Given the description of an element on the screen output the (x, y) to click on. 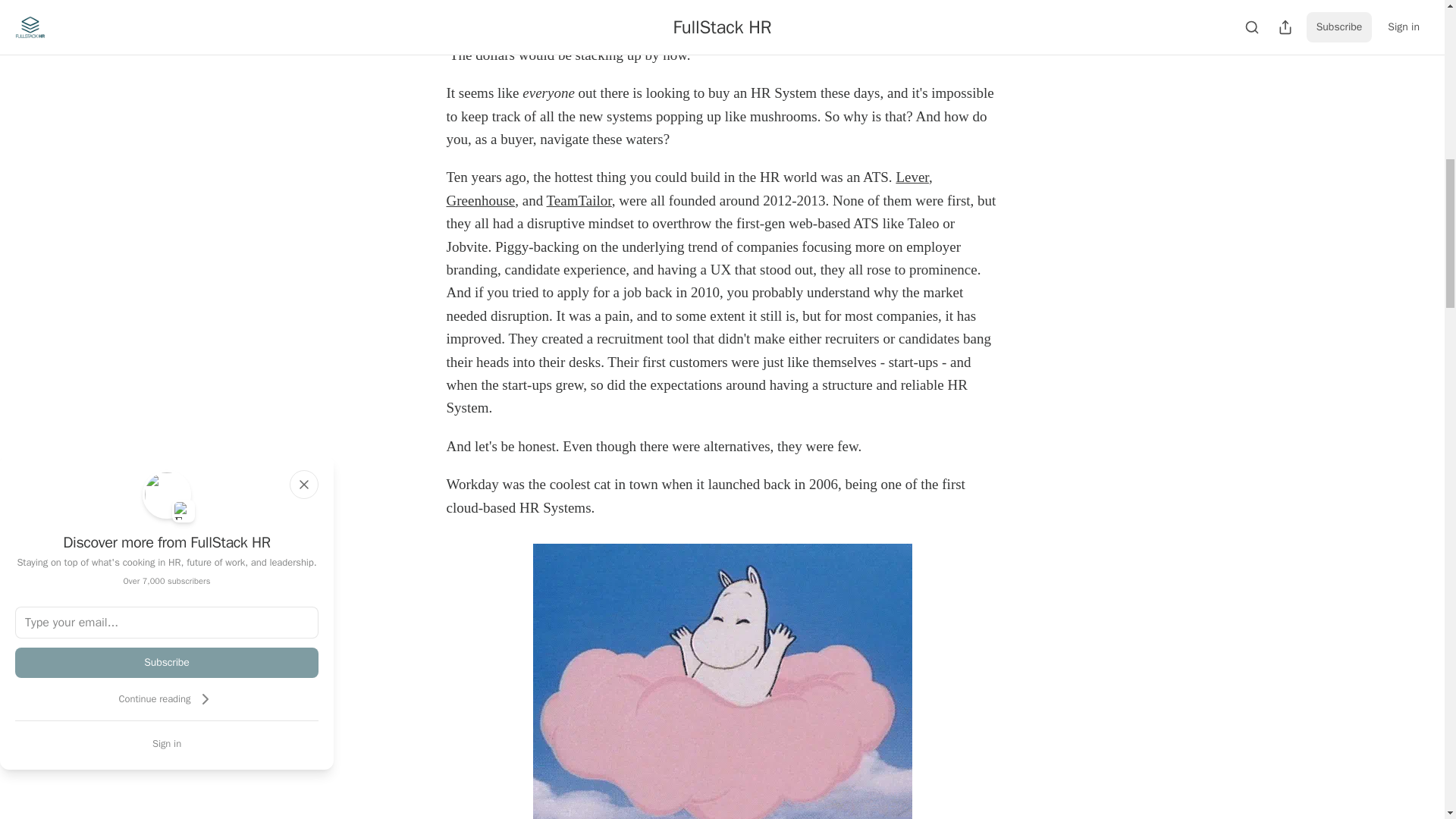
Lever (911, 176)
Sign in (166, 743)
Greenhouse (480, 200)
TeamTailor (579, 200)
Subscribe (166, 662)
